Given the description of an element on the screen output the (x, y) to click on. 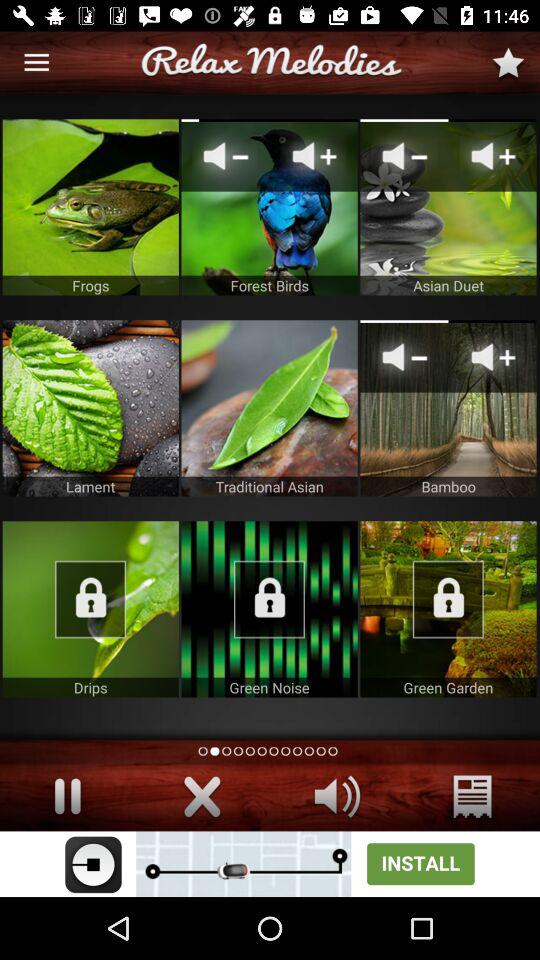
choose frogs category (90, 207)
